Given the description of an element on the screen output the (x, y) to click on. 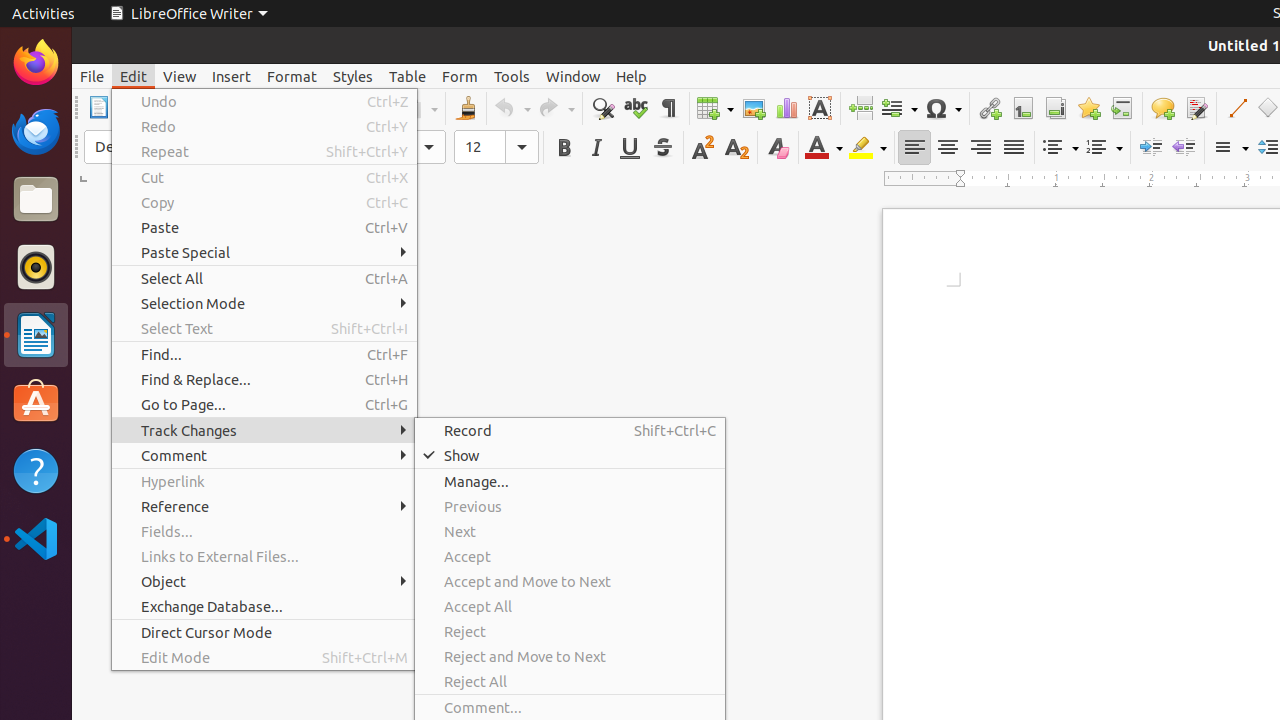
Chart Element type: push-button (786, 108)
Reject All Element type: menu-item (570, 681)
Rhythmbox Element type: push-button (36, 267)
Hyperlink Element type: toggle-button (989, 108)
Undo Element type: menu-item (264, 101)
